Given the description of an element on the screen output the (x, y) to click on. 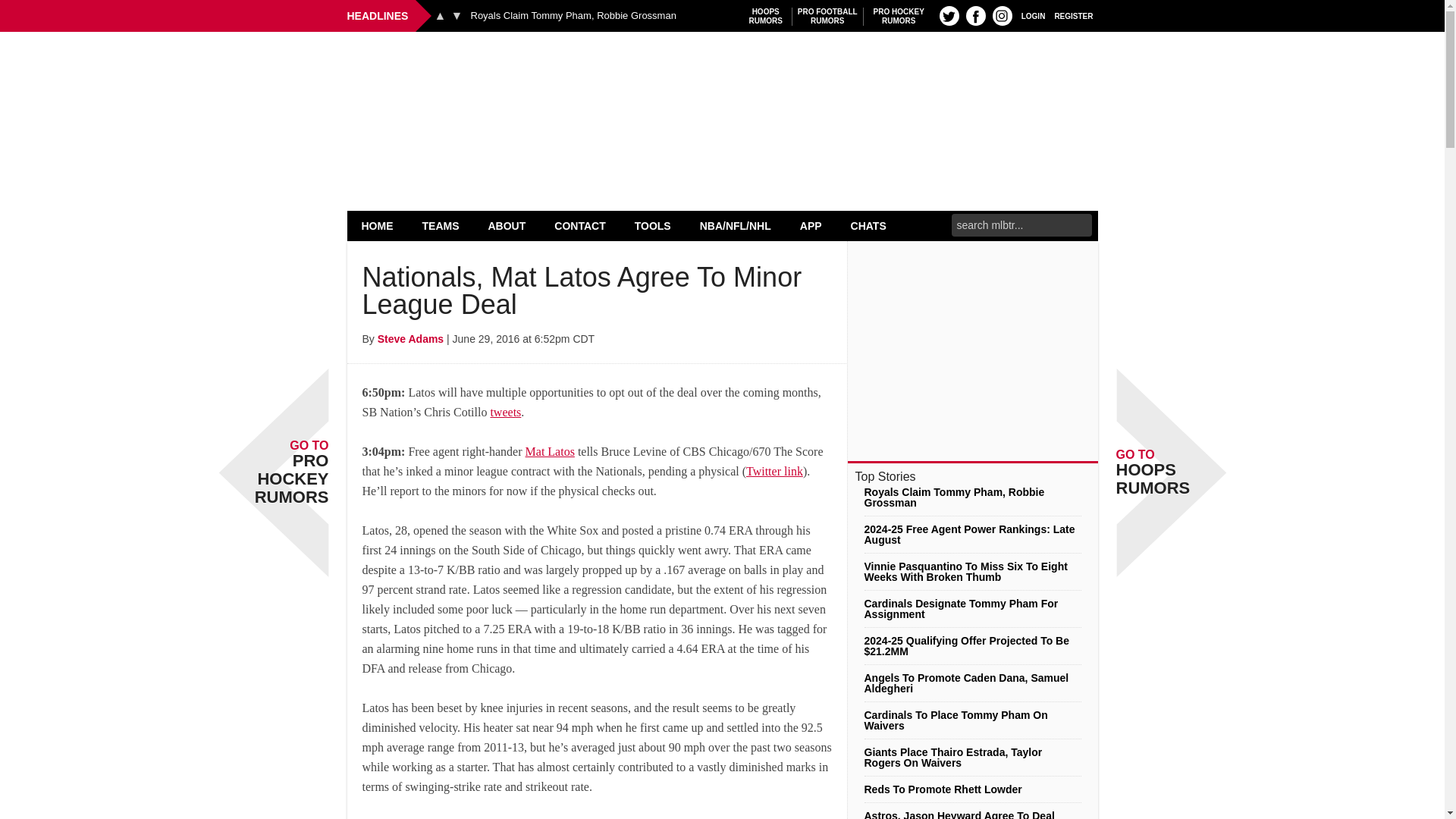
Twitter profile (949, 15)
Previous (439, 15)
Next (456, 15)
Instagram profile (1001, 15)
MLB Trade Rumors (722, 69)
REGISTER (827, 16)
HOME (898, 16)
